Given the description of an element on the screen output the (x, y) to click on. 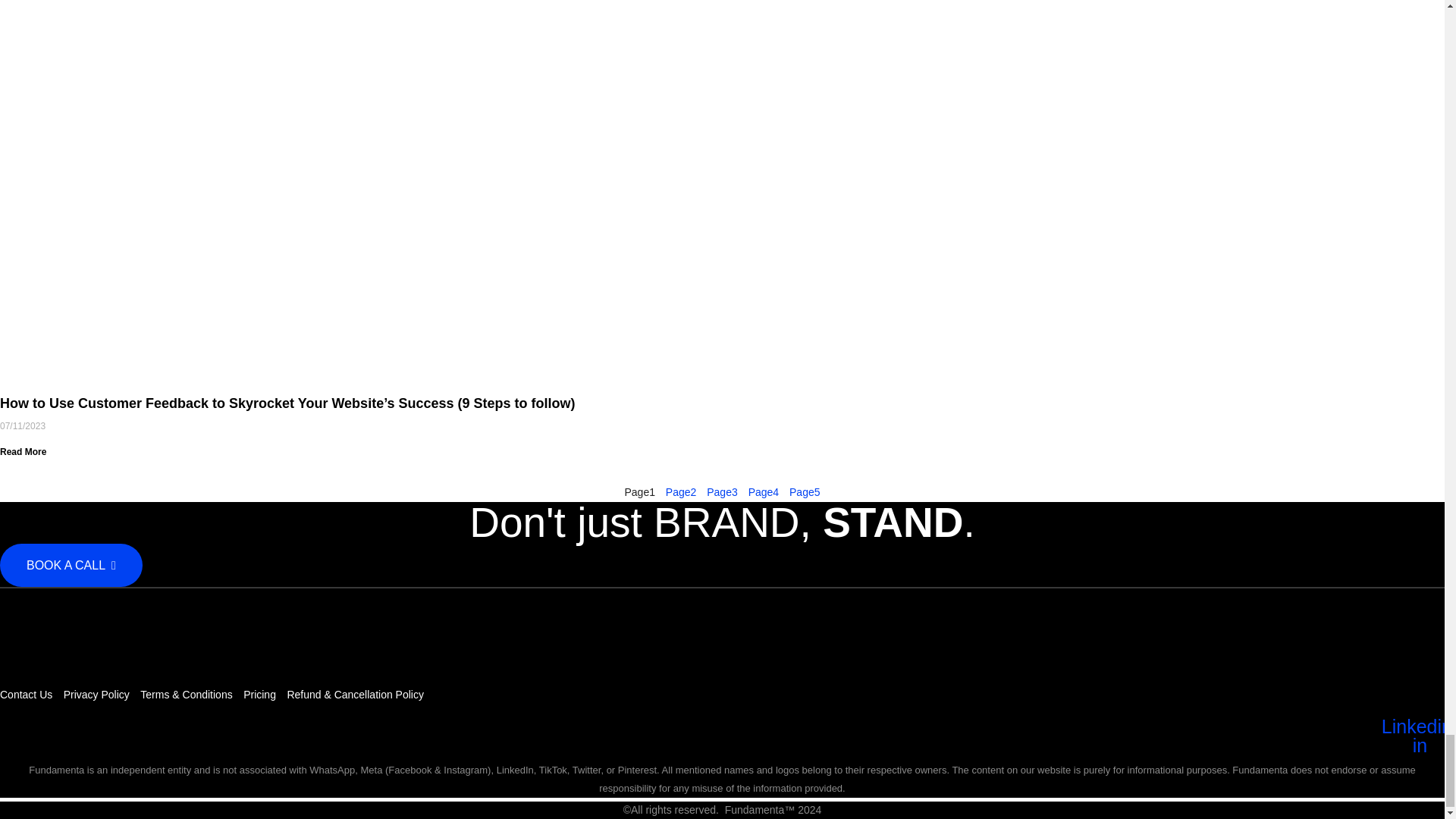
Read More (23, 451)
Page2 (681, 491)
Page3 (722, 491)
